Given the description of an element on the screen output the (x, y) to click on. 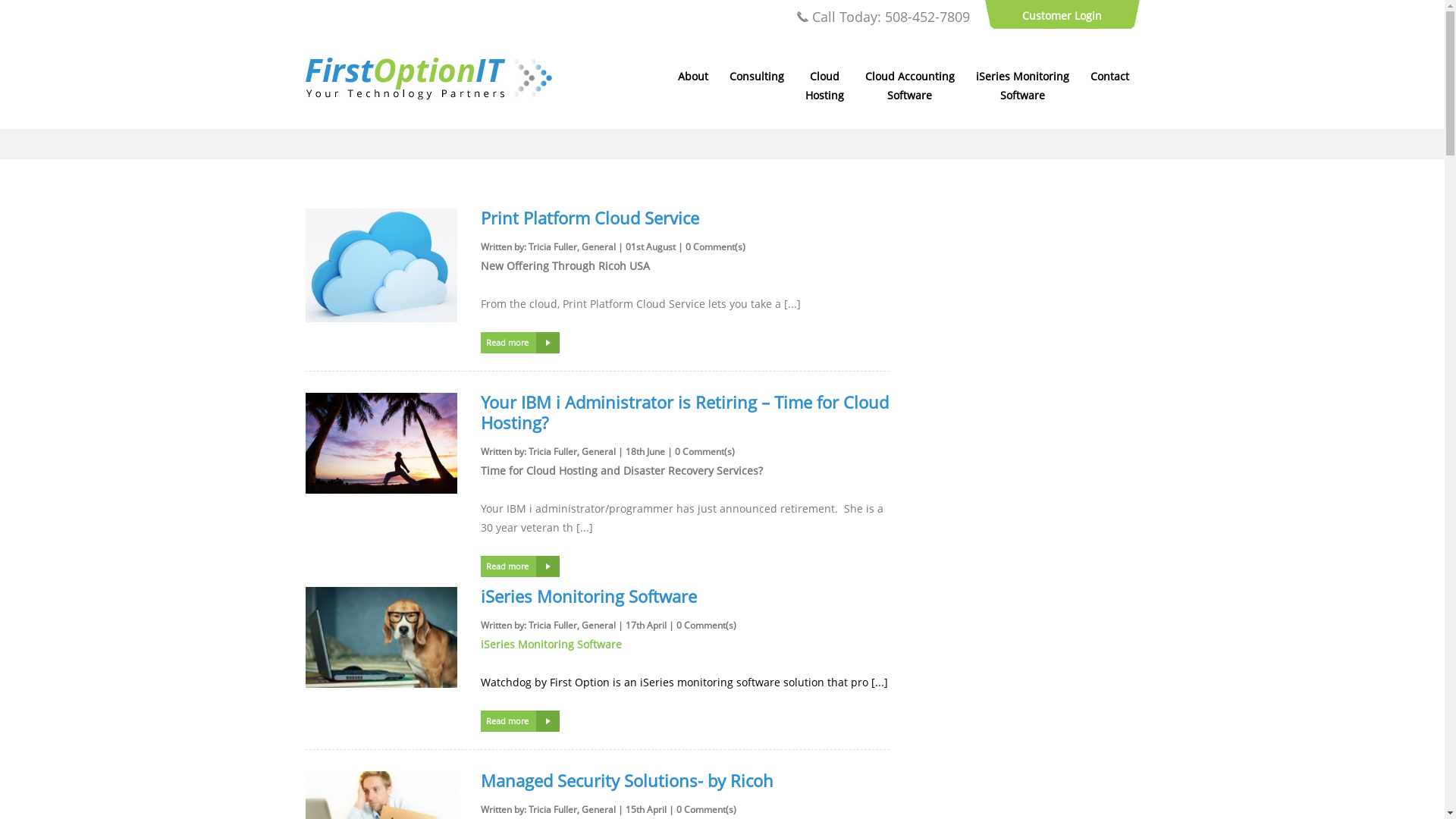
Consulting Element type: text (756, 75)
FirstOptionIT Element type: hover (427, 95)
iSeries Monitoring
Software Element type: text (1021, 85)
Cloud
Hosting Element type: text (824, 85)
Customer Login Element type: text (1061, 15)
Print Platform Cloud Service Element type: text (589, 217)
iSeries Monitoring Software Element type: text (588, 595)
About Element type: text (692, 75)
Contact Element type: text (1109, 75)
Read more Element type: text (519, 720)
Call Today: 508-452-7809 Element type: text (882, 16)
Read more Element type: text (519, 342)
Read more Element type: text (519, 566)
Managed Security Solutions- by Ricoh Element type: text (626, 779)
Cloud Accounting
Software Element type: text (908, 85)
